Given the description of an element on the screen output the (x, y) to click on. 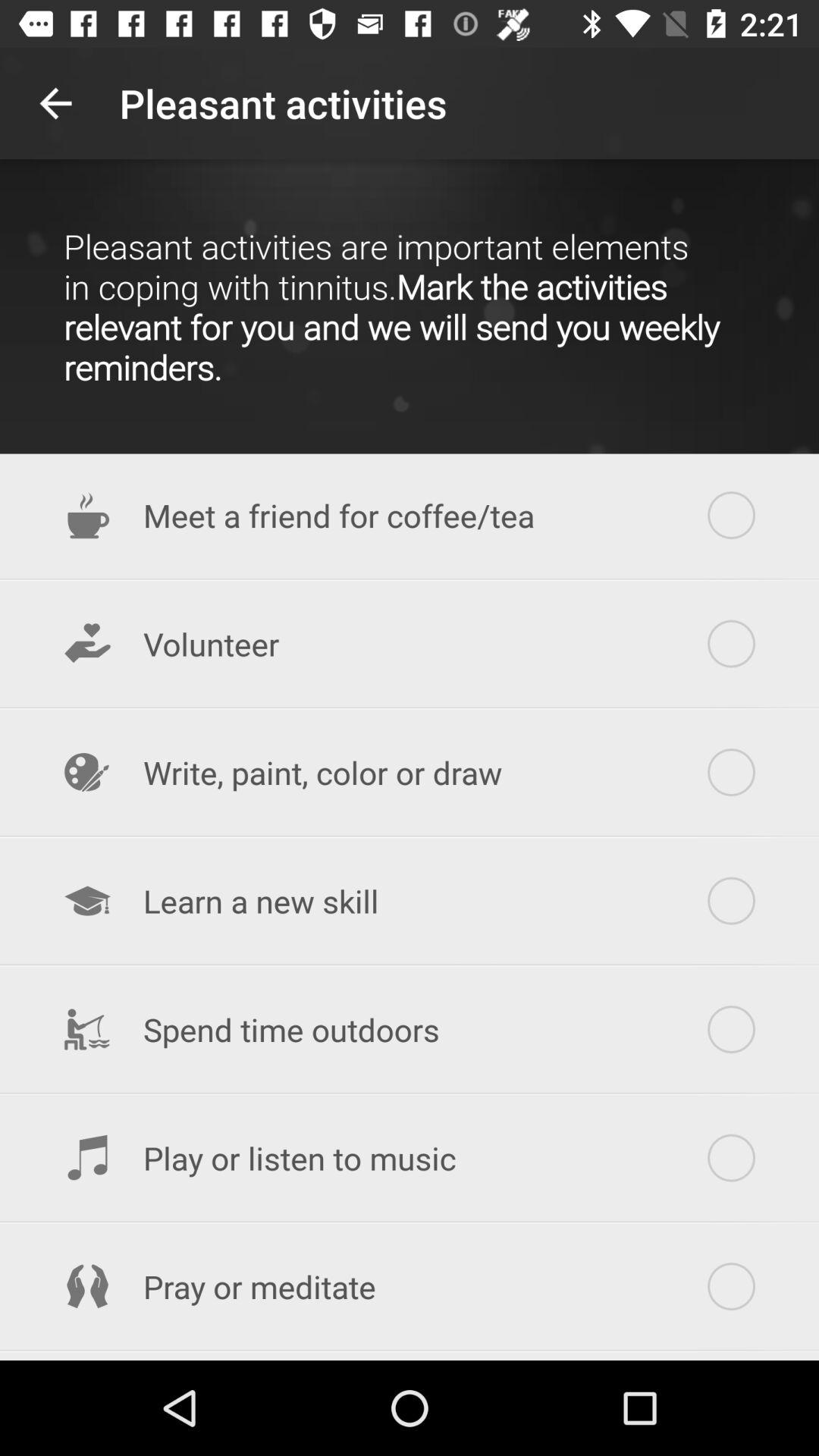
select the explore a neighborhood item (409, 1356)
